Given the description of an element on the screen output the (x, y) to click on. 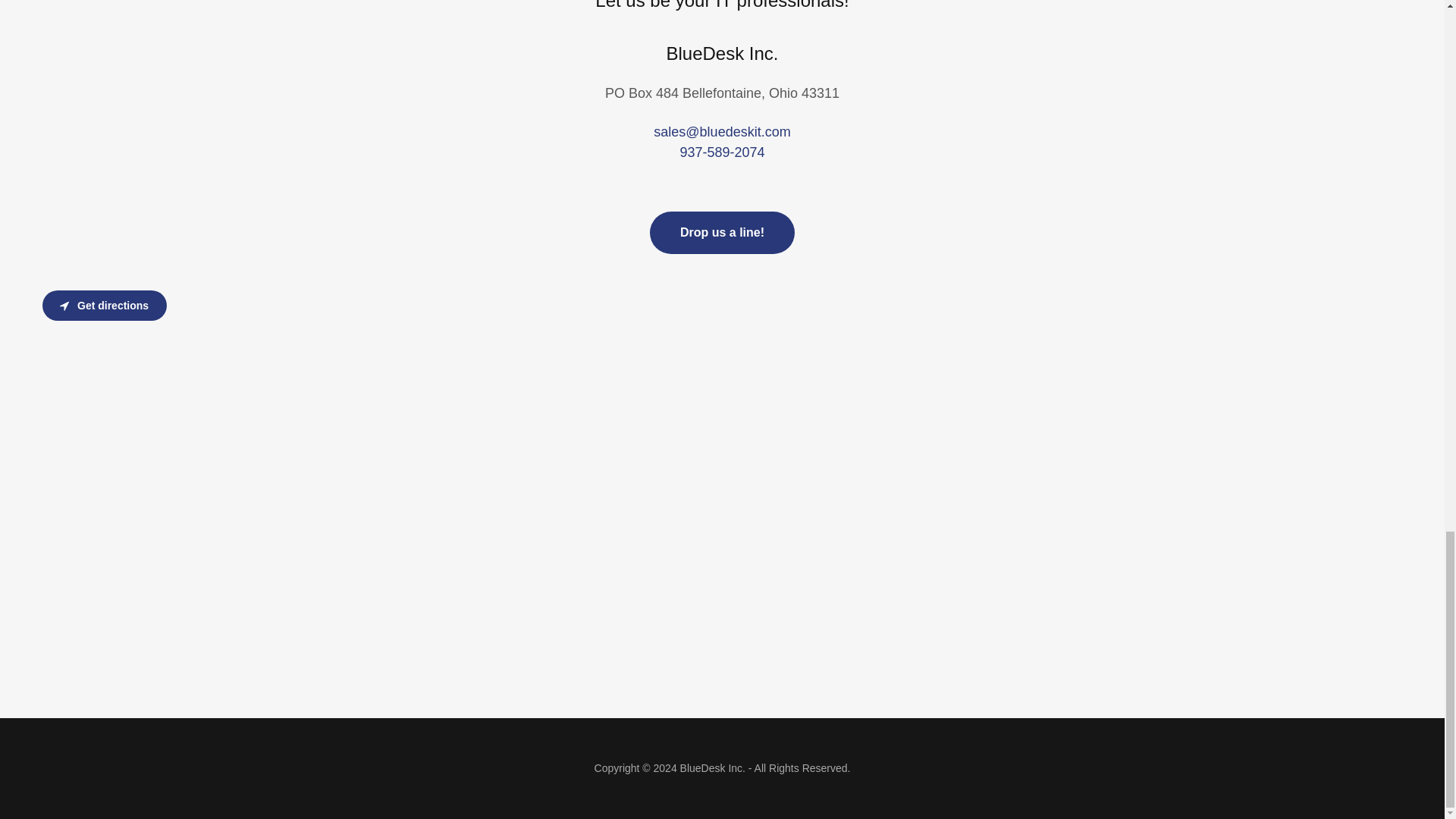
Get directions (104, 305)
Drop us a line! (721, 232)
937-589-2074 (721, 151)
